Given the description of an element on the screen output the (x, y) to click on. 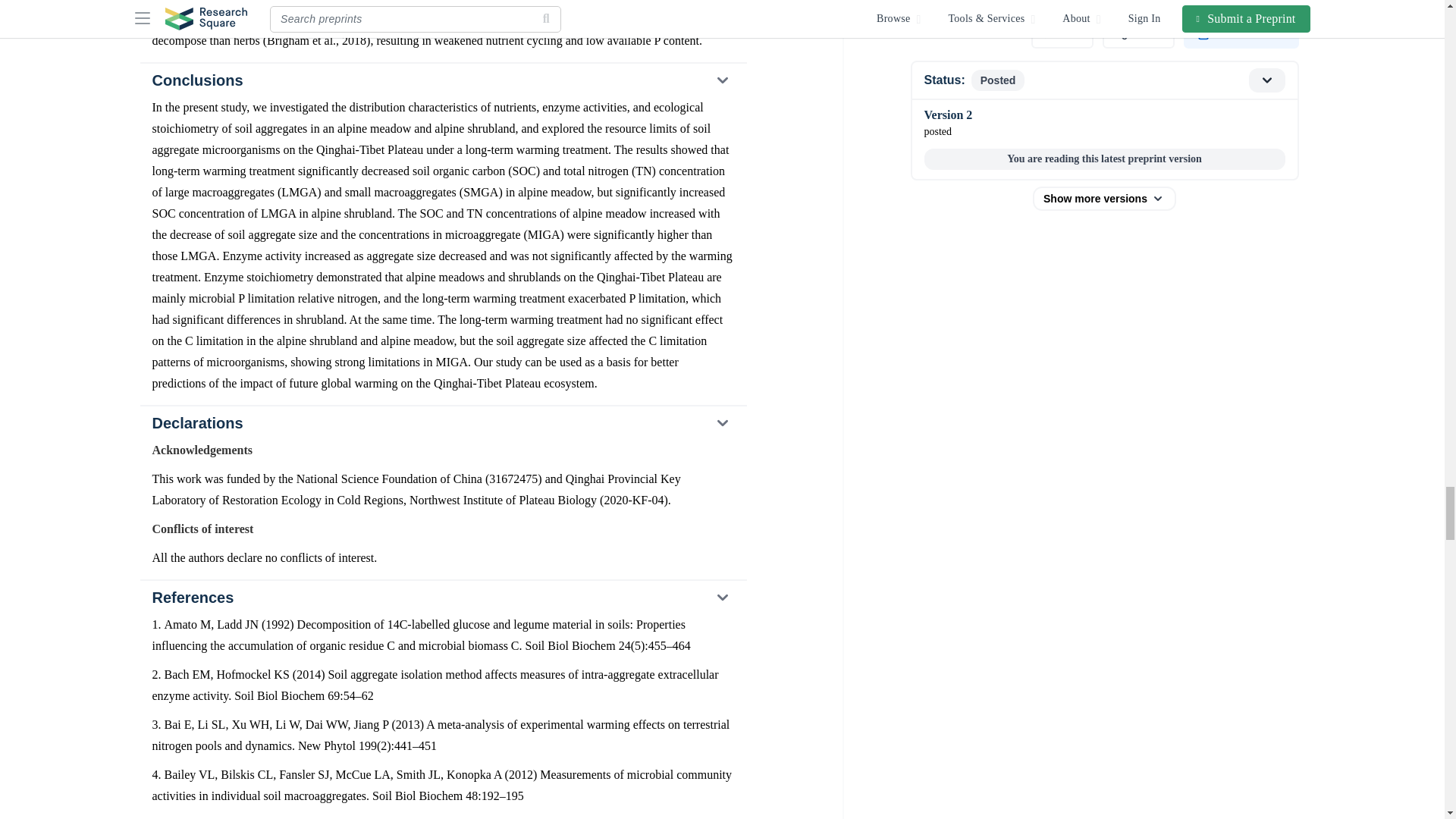
References (442, 597)
Declarations (442, 422)
Conclusions (442, 80)
